Given the description of an element on the screen output the (x, y) to click on. 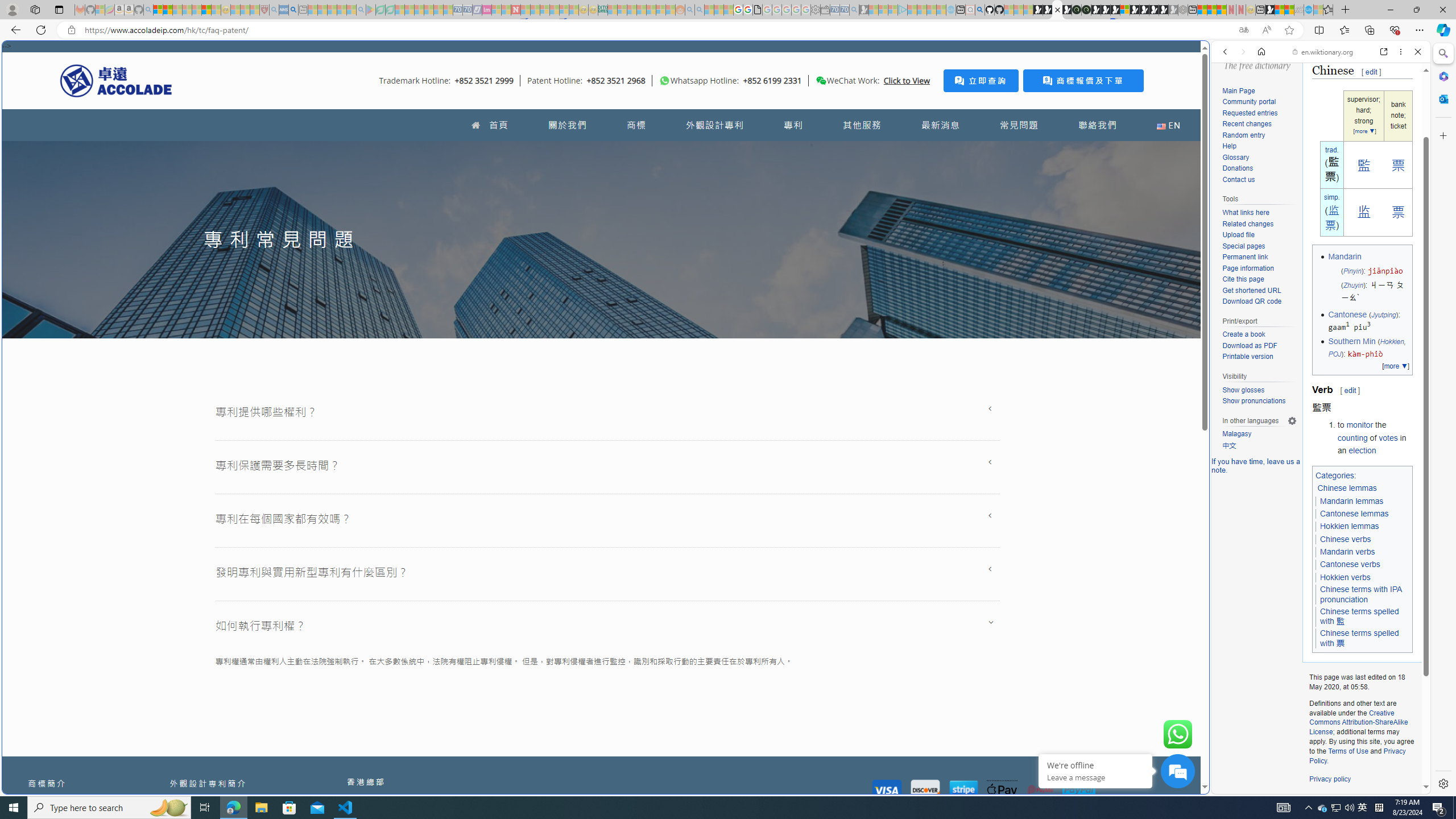
Services - Maintenance | Sky Blue Bikes - Sky Blue Bikes (1307, 9)
Create a book (1243, 334)
Get shortened URL (1259, 290)
Show pronunciations (1259, 401)
Cheap Car Rentals - Save70.com - Sleeping (844, 9)
Show glosses (1243, 389)
Web scope (1230, 102)
POJ (1333, 354)
Search or enter web address (922, 108)
Mandarin verbs (1347, 551)
Malagasy (1236, 433)
